Given the description of an element on the screen output the (x, y) to click on. 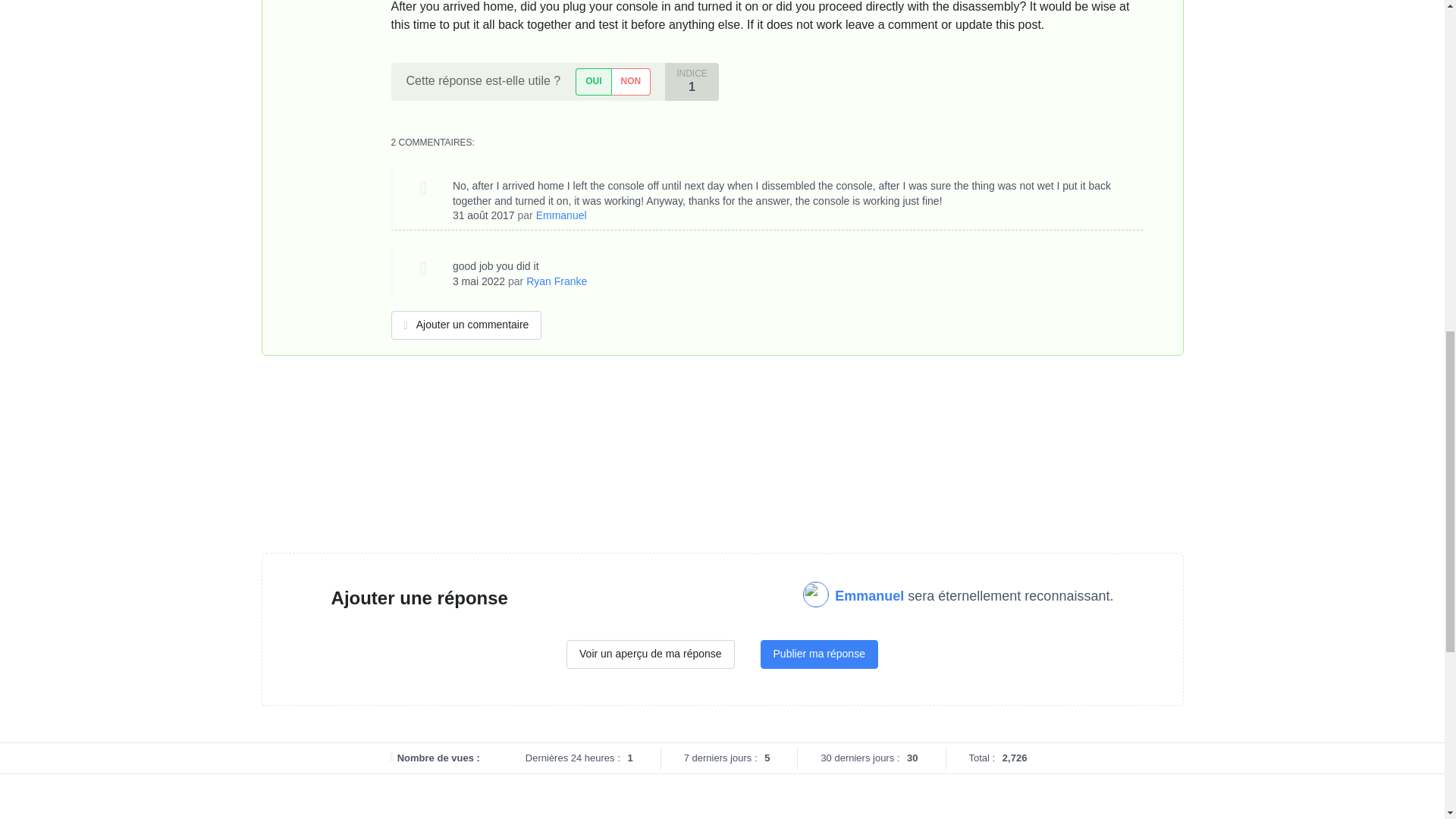
Tue, 03 May 2022 18:51:59 -0700 (478, 281)
OUI (592, 81)
3 mai 2022 (478, 281)
Thu, 31 Aug 2017 21:45:56 -0700 (483, 215)
NON (630, 81)
Emmanuel (560, 215)
